Given the description of an element on the screen output the (x, y) to click on. 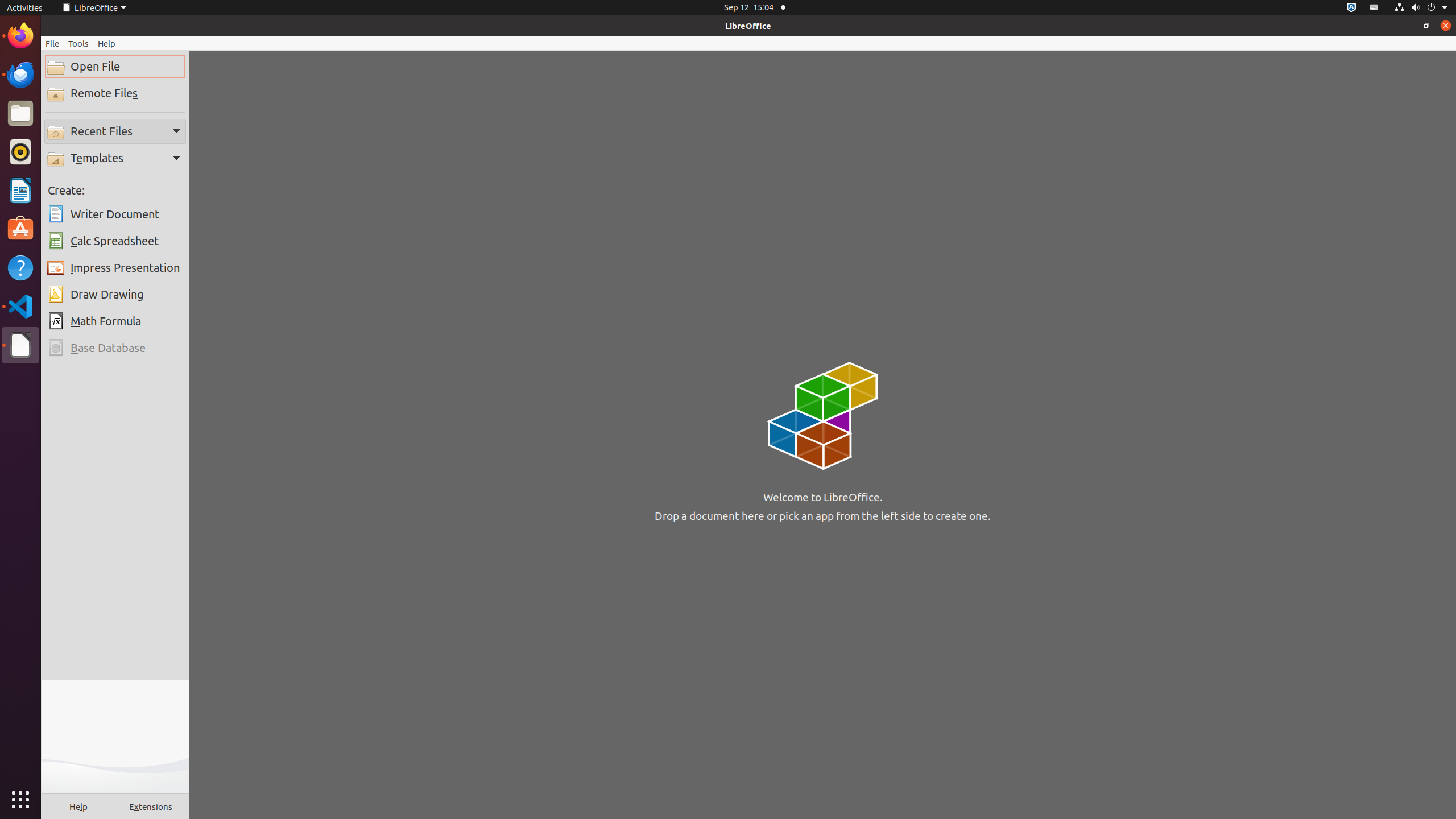
Recent Files Element type: push-button (114, 130)
Tools Element type: menu (78, 43)
Templates Element type: push-button (114, 157)
LibreOffice Element type: push-button (20, 344)
